Given the description of an element on the screen output the (x, y) to click on. 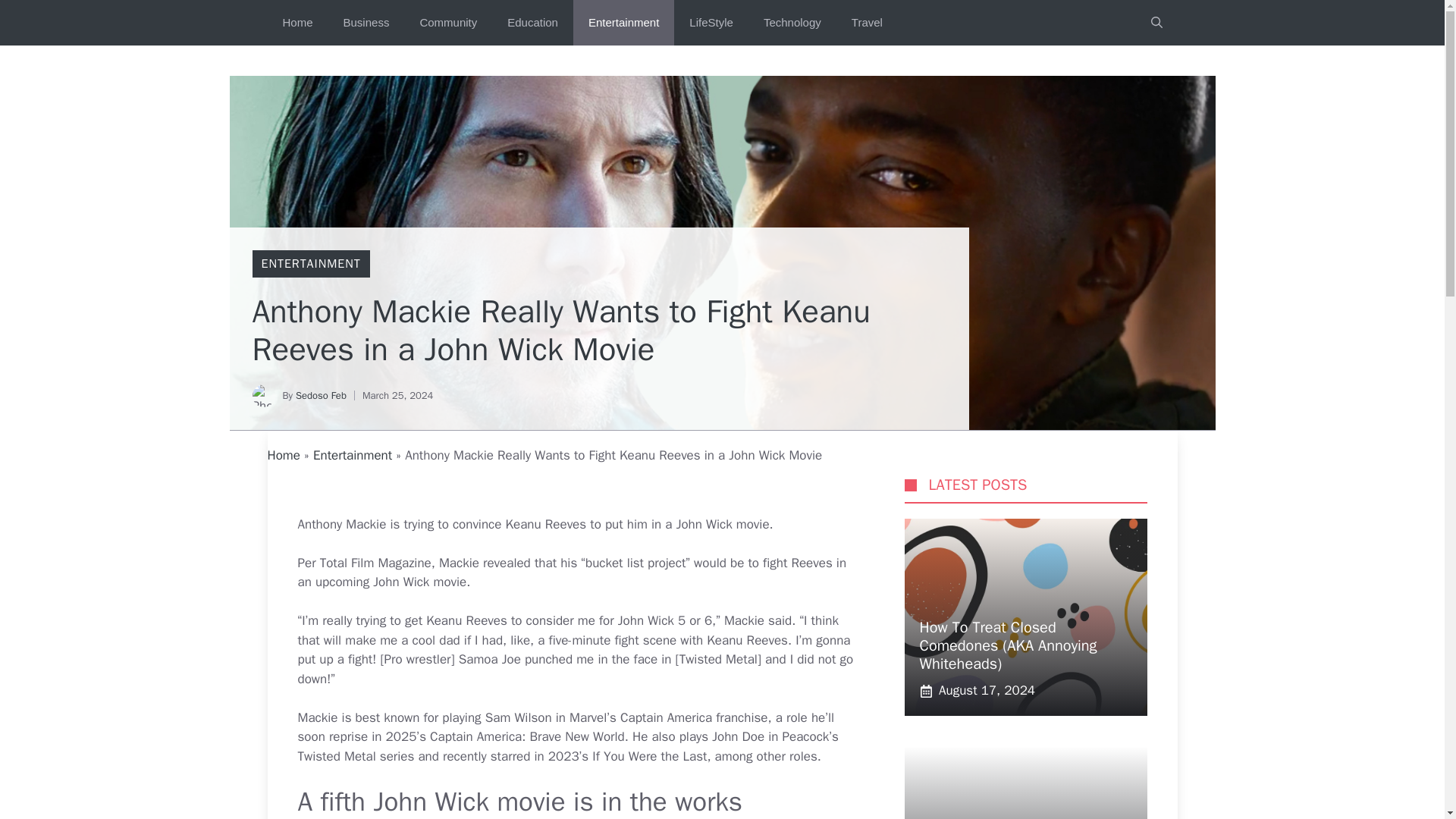
Sedoso Feb (320, 395)
Travel (866, 22)
Home (282, 455)
Technology (791, 22)
Business (366, 22)
Education (532, 22)
Entertainment (352, 455)
Community (448, 22)
Entertainment (623, 22)
LifeStyle (711, 22)
